Given the description of an element on the screen output the (x, y) to click on. 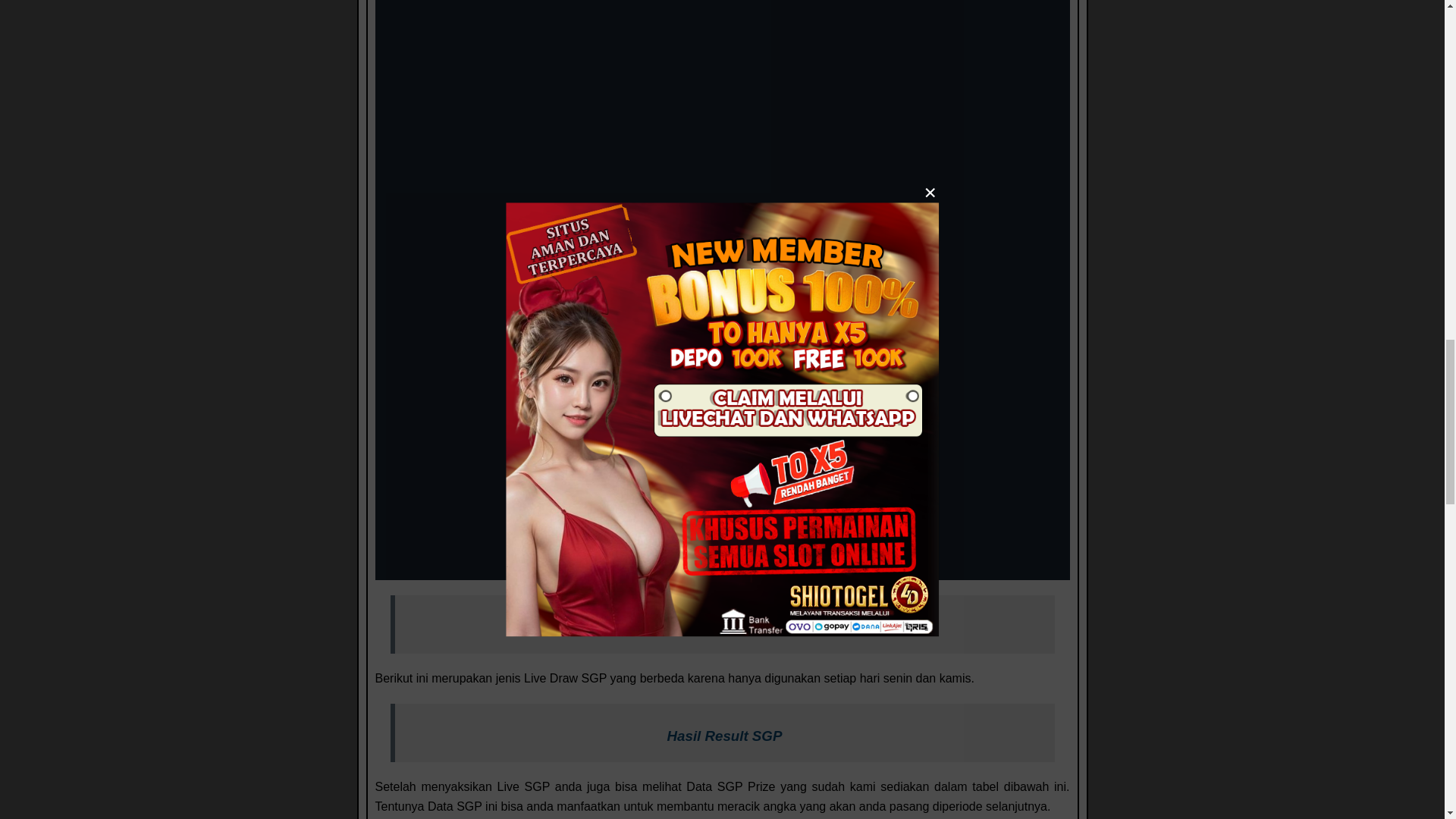
Live Draw SGP TOTO (723, 627)
Live Draw SGP TOTO (724, 627)
Hasil Result SGP (723, 735)
Hasil Result SGP (724, 735)
